Given the description of an element on the screen output the (x, y) to click on. 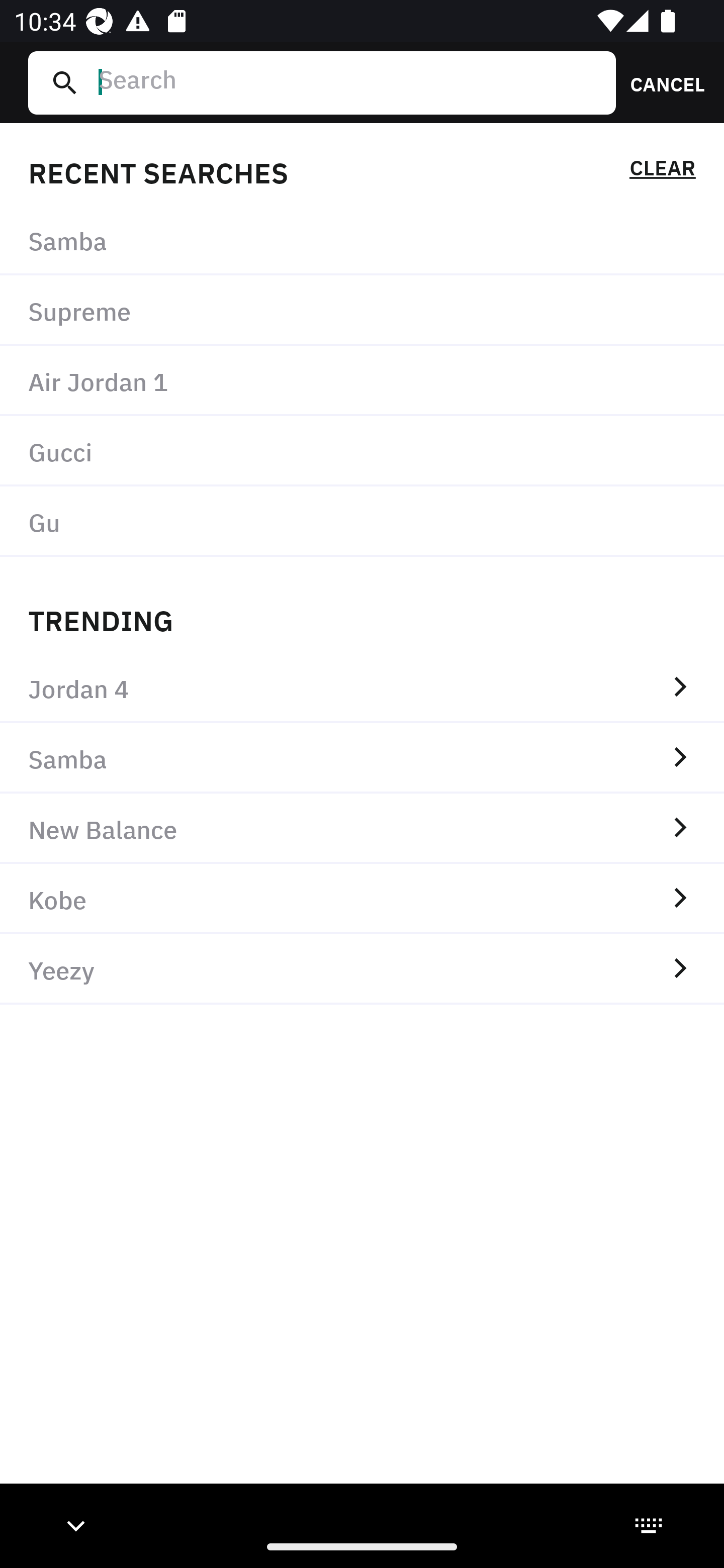
CANCEL (660, 82)
Search (349, 82)
CLEAR (662, 170)
Samba (362, 240)
Supreme (362, 310)
Air Jordan 1 (362, 380)
Gucci (362, 450)
Gu (362, 521)
Jordan 4  (362, 687)
Samba  (362, 757)
New Balance  (362, 828)
Kobe  (362, 898)
Yeezy  (362, 969)
